Given the description of an element on the screen output the (x, y) to click on. 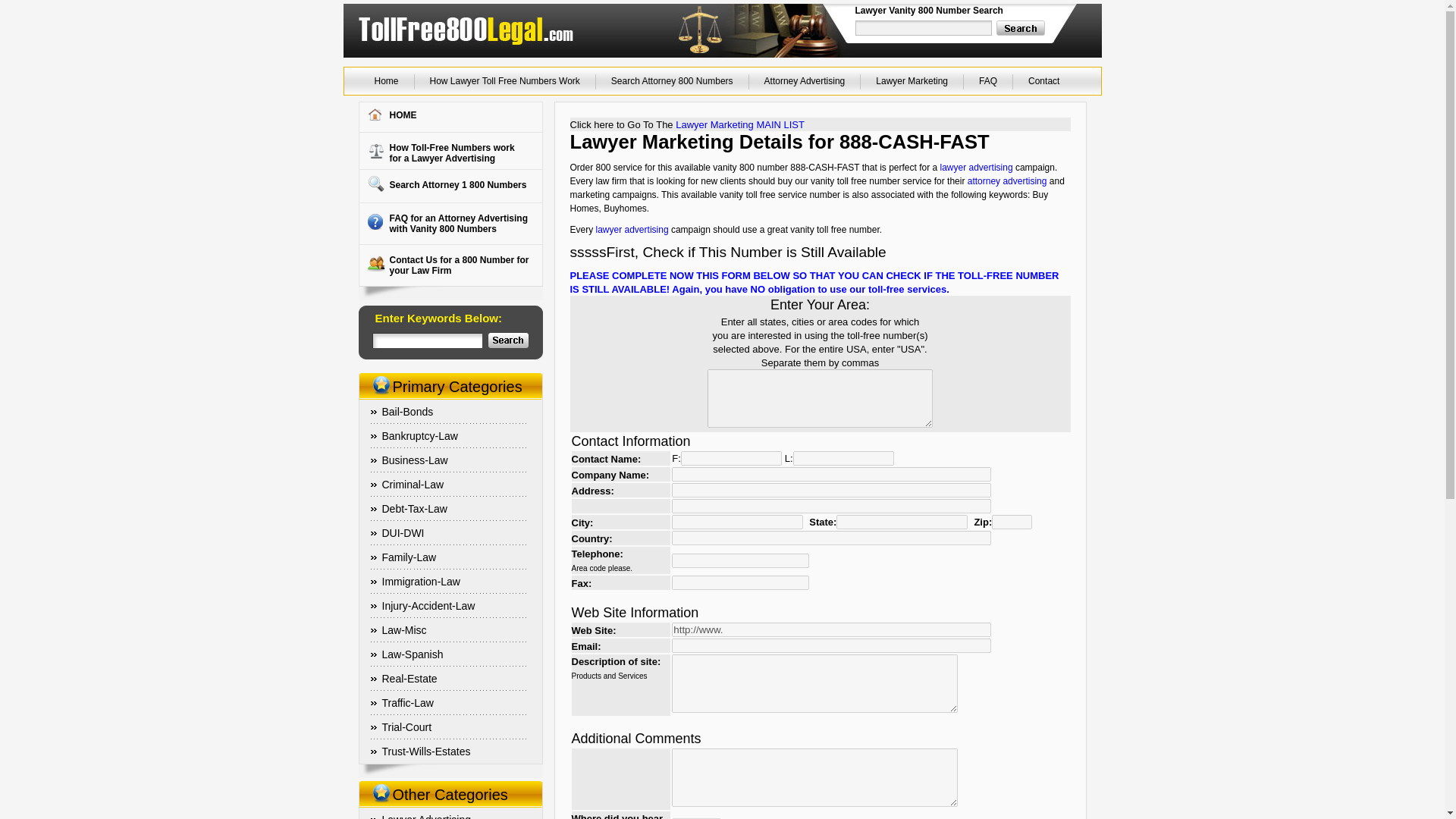
Business-Law (414, 460)
Search Attorney 1 800 Numbers (443, 223)
search (443, 184)
Traffic-Law (1020, 28)
Contact (407, 702)
Trust-Wills-Estates (1043, 81)
Real-Estate (444, 265)
Criminal-Law (425, 751)
